Given the description of an element on the screen output the (x, y) to click on. 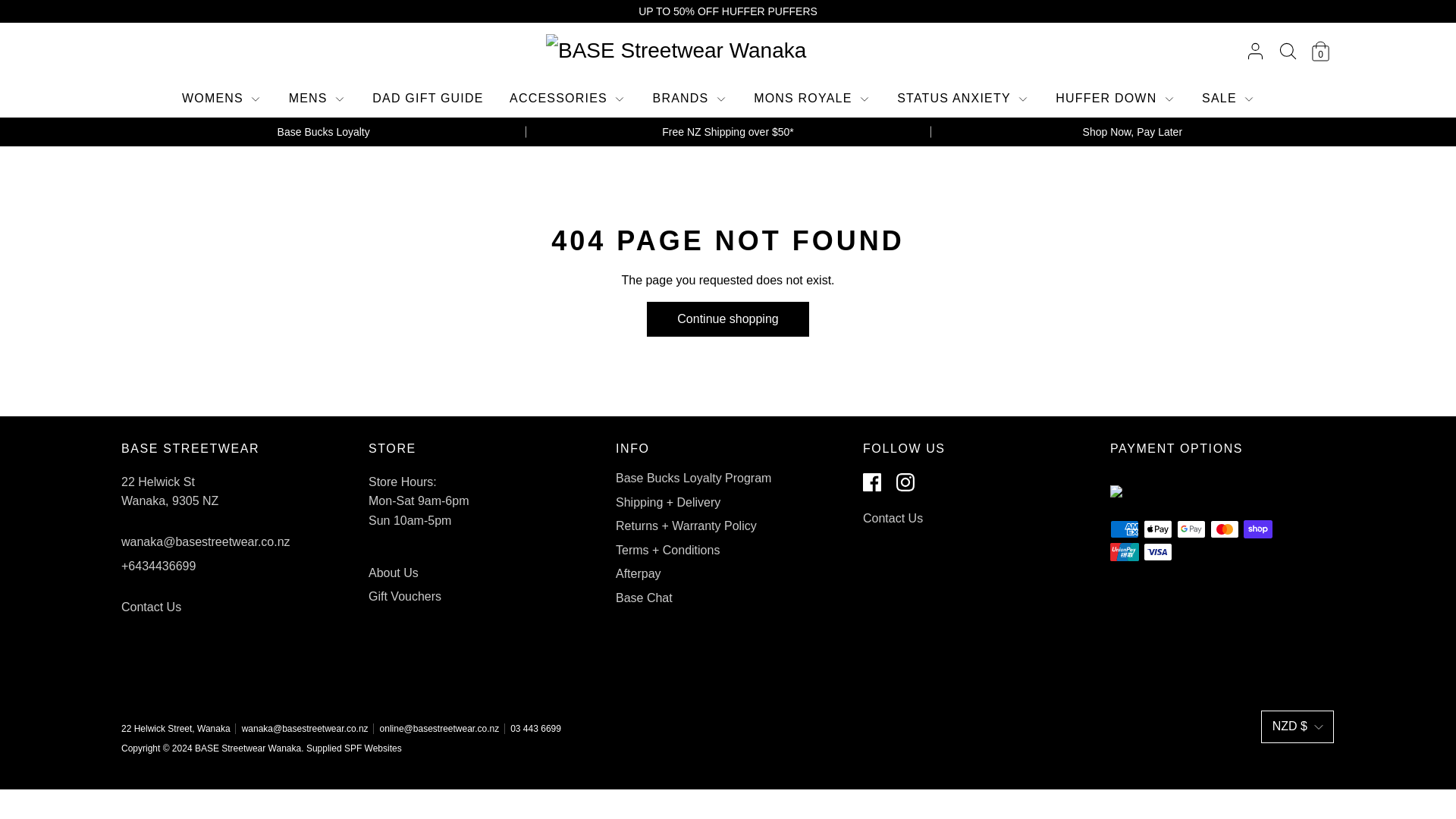
Visa (1157, 551)
0 (1320, 46)
Search (1287, 50)
Apple Pay (1157, 529)
Shop Pay (1257, 529)
Google Pay (1190, 529)
American Express (1123, 529)
Facebook (875, 484)
Mastercard (1224, 529)
Union Pay (1123, 551)
